Given the description of an element on the screen output the (x, y) to click on. 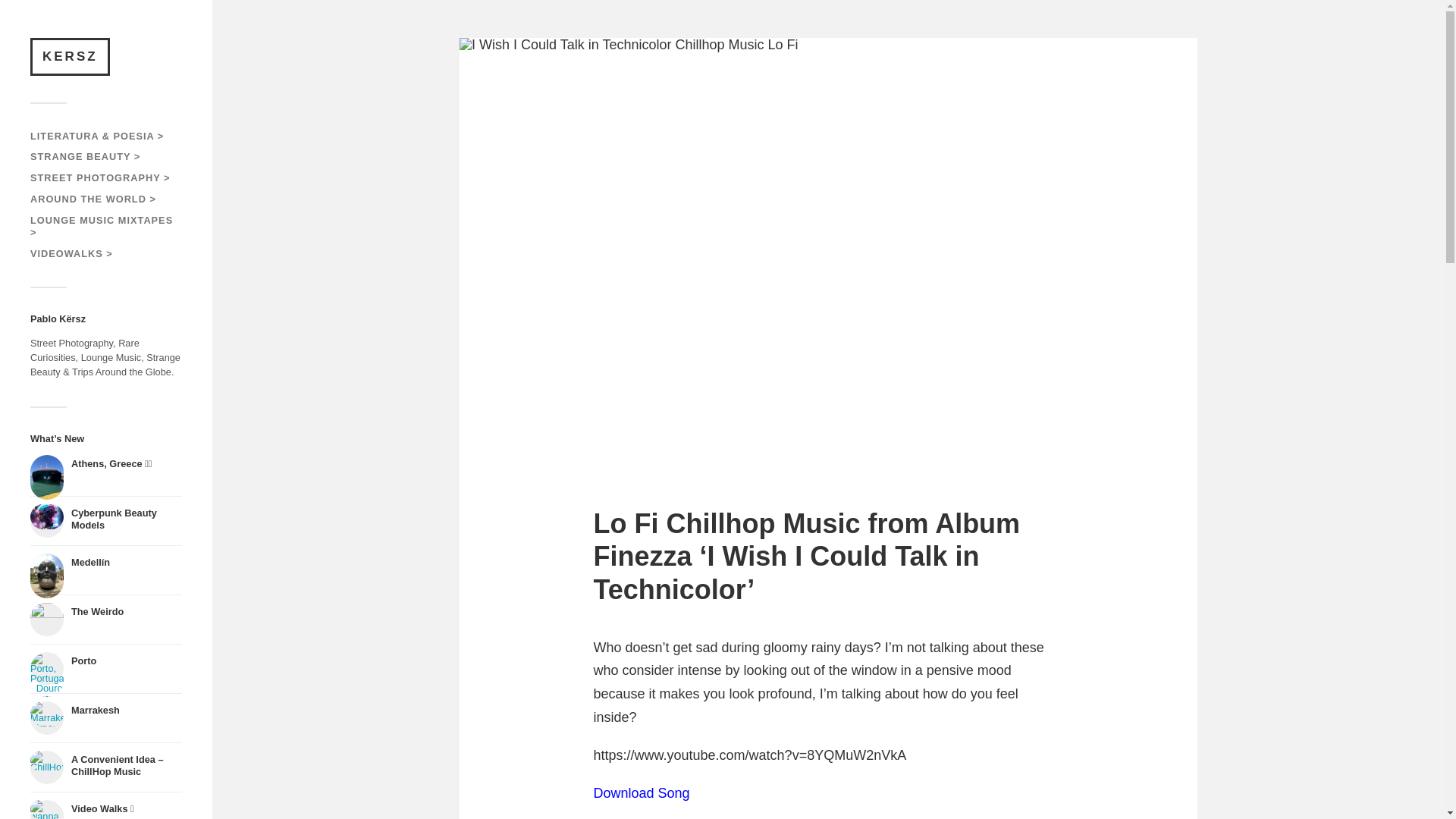
Marrakesh (106, 717)
Porto (106, 668)
KERSZ (70, 56)
The Weirdo (106, 619)
Cyberpunk Beauty Models (106, 520)
